Given the description of an element on the screen output the (x, y) to click on. 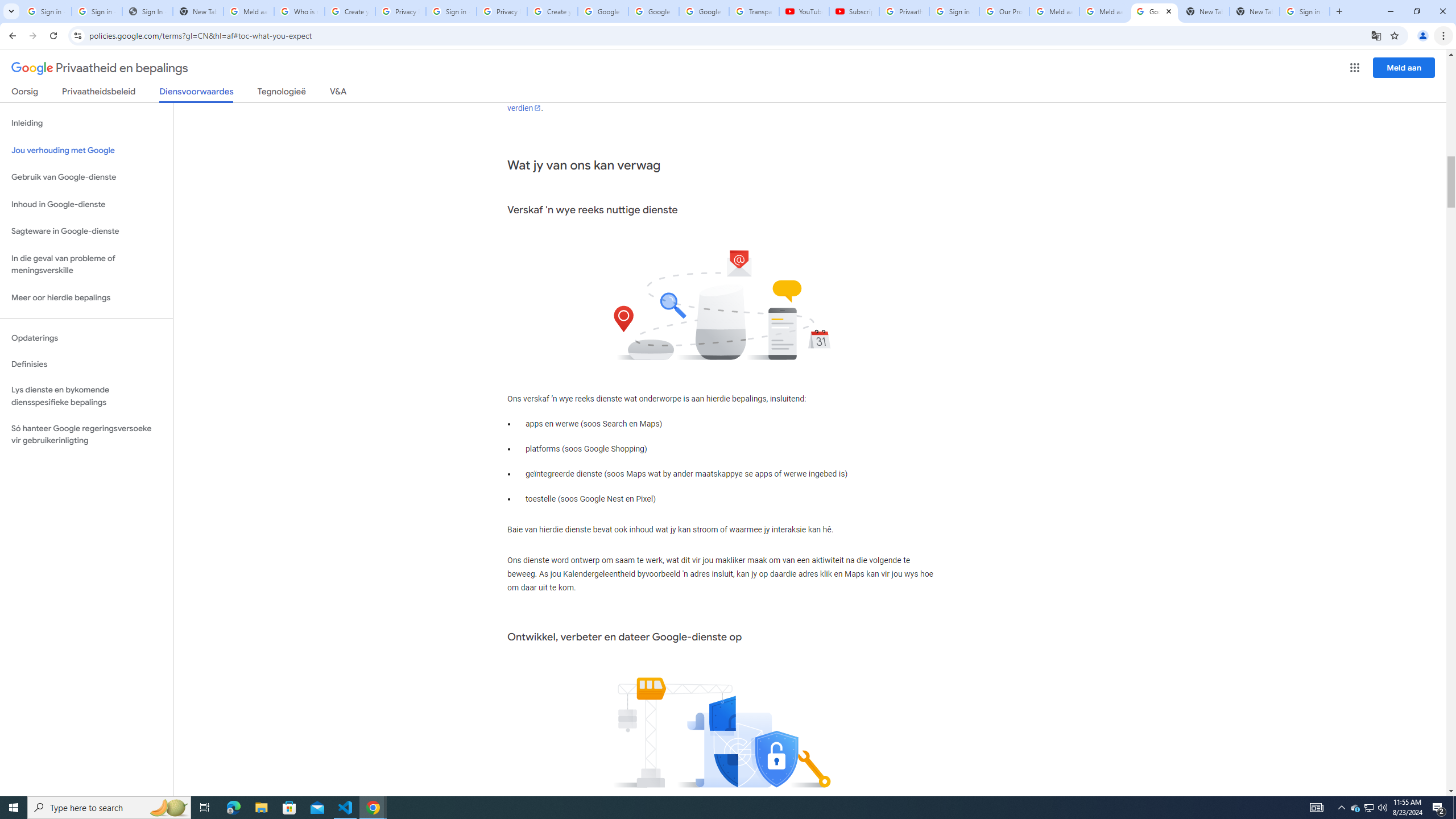
Inleiding (86, 122)
Lys dienste en bykomende diensspesifieke bepalings (86, 396)
Meld aan (1404, 67)
Gebruik van Google-dienste (86, 176)
